Given the description of an element on the screen output the (x, y) to click on. 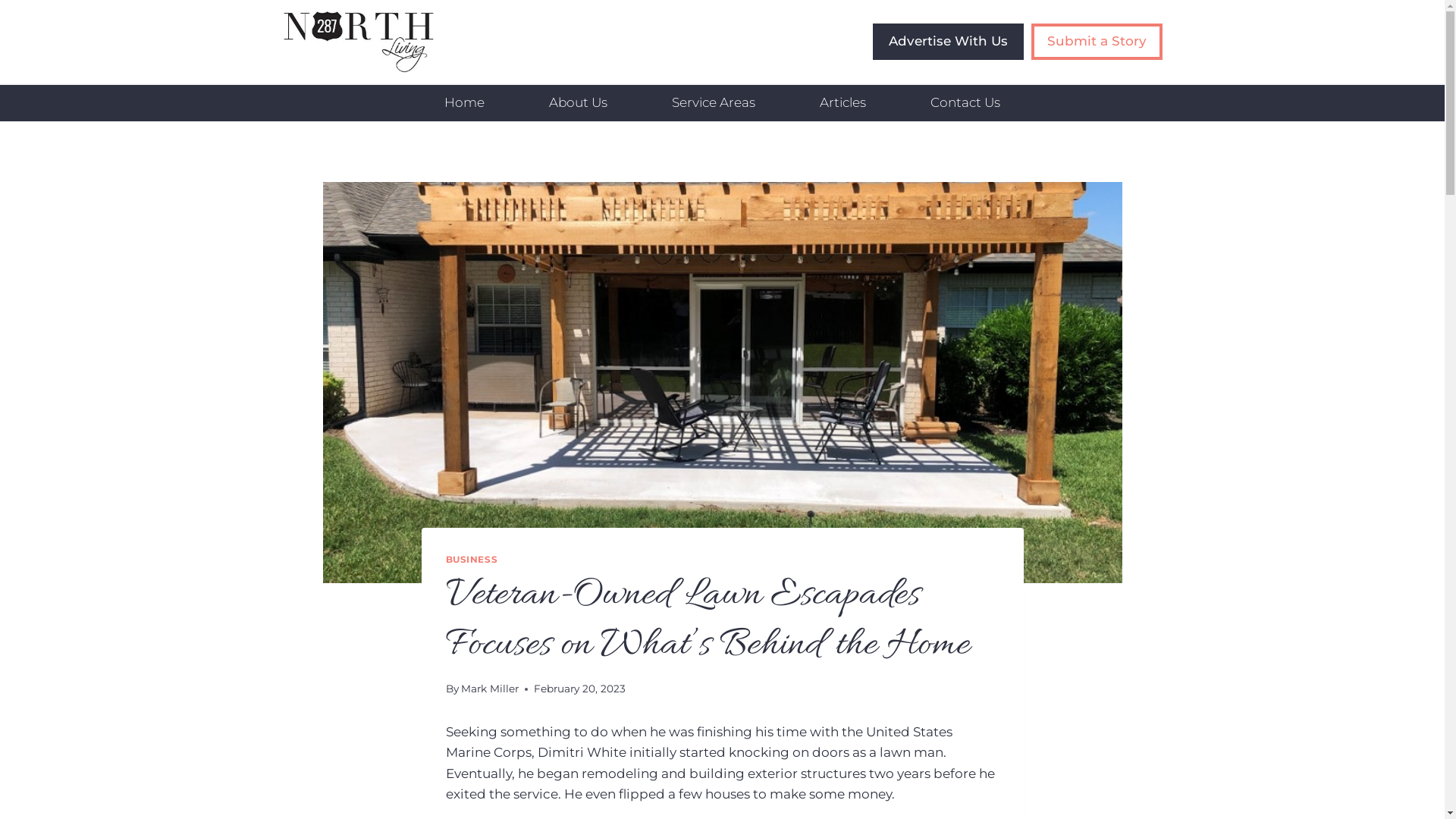
Home Element type: text (464, 102)
Mark Miller Element type: text (489, 688)
Articles Element type: text (842, 102)
Contact Us Element type: text (964, 102)
Advertise With Us Element type: text (947, 41)
About Us Element type: text (578, 102)
Submit a Story Element type: text (1096, 41)
BUSINESS Element type: text (471, 558)
Service Areas Element type: text (713, 102)
